Given the description of an element on the screen output the (x, y) to click on. 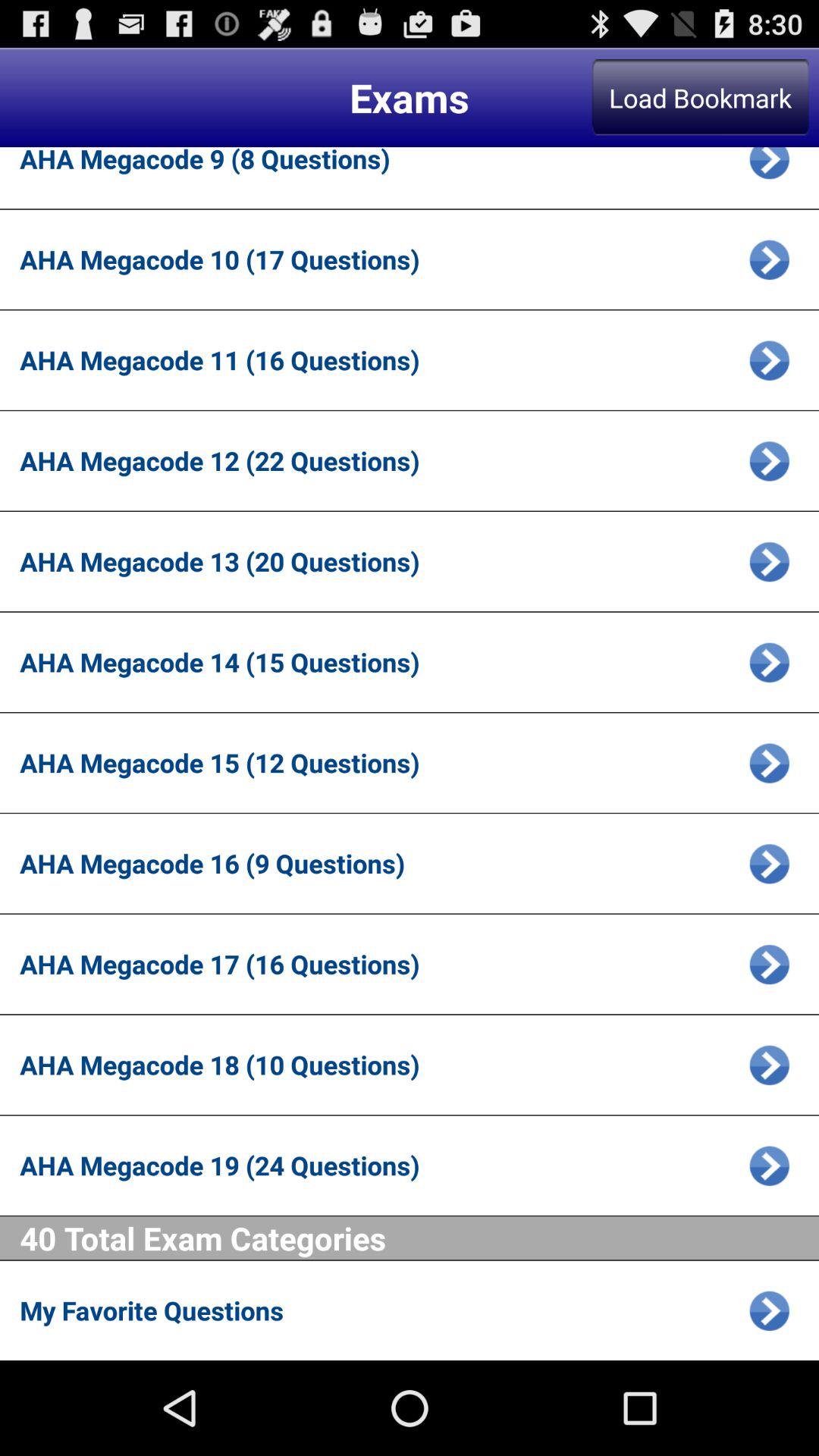
view details (769, 762)
